Given the description of an element on the screen output the (x, y) to click on. 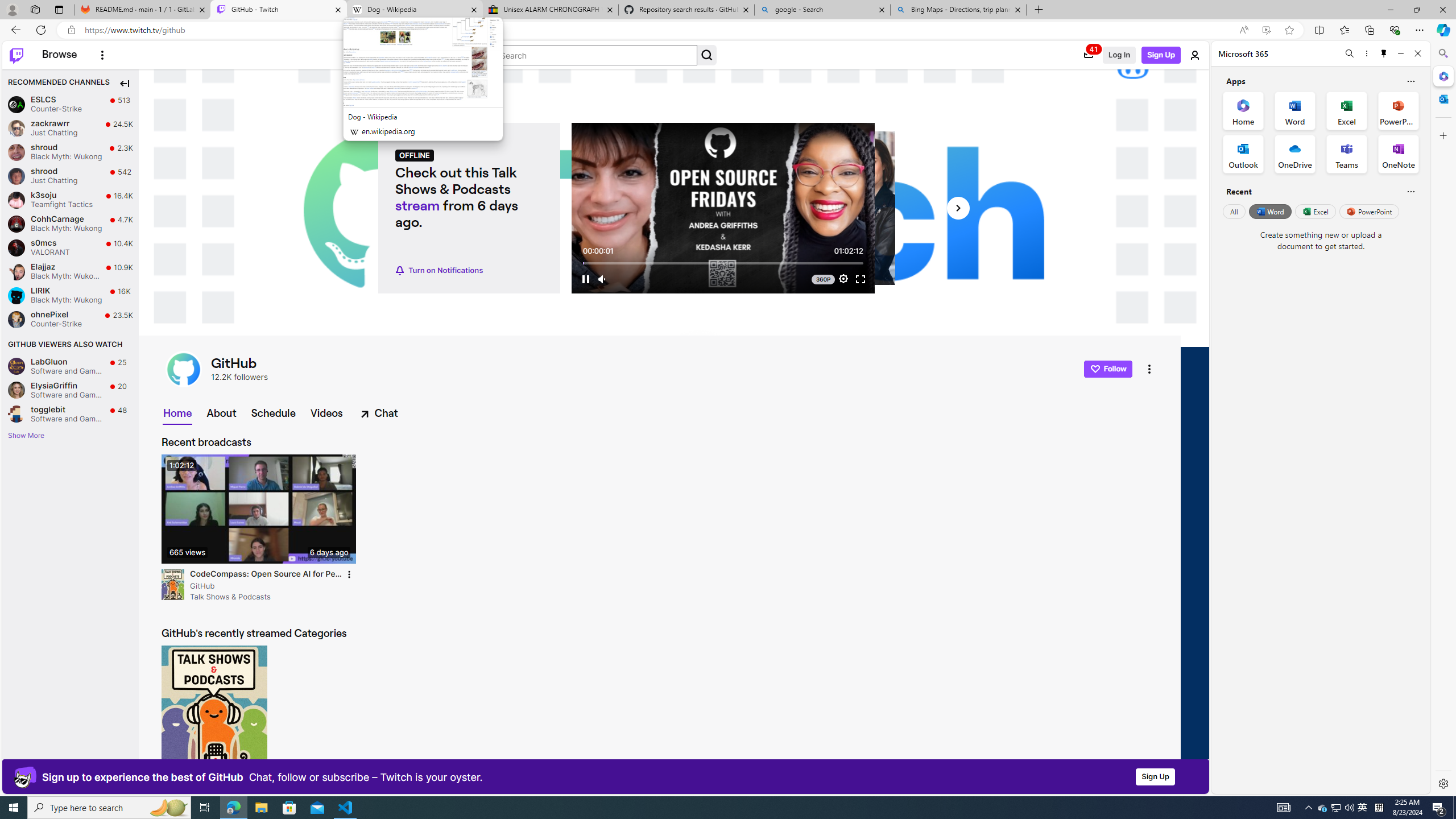
shroud shroud Black Myth: Wukong Live 2.3K viewers (70, 152)
zackrawrr (15, 127)
PowerPoint (1369, 210)
Show More (25, 435)
Dog - Wikipedia (414, 9)
Word Office App (1295, 110)
User Menu (1195, 54)
Class: ScIconSVG-sc-1q25cff-1 jpczqG (706, 55)
Schedule (272, 413)
